Given the description of an element on the screen output the (x, y) to click on. 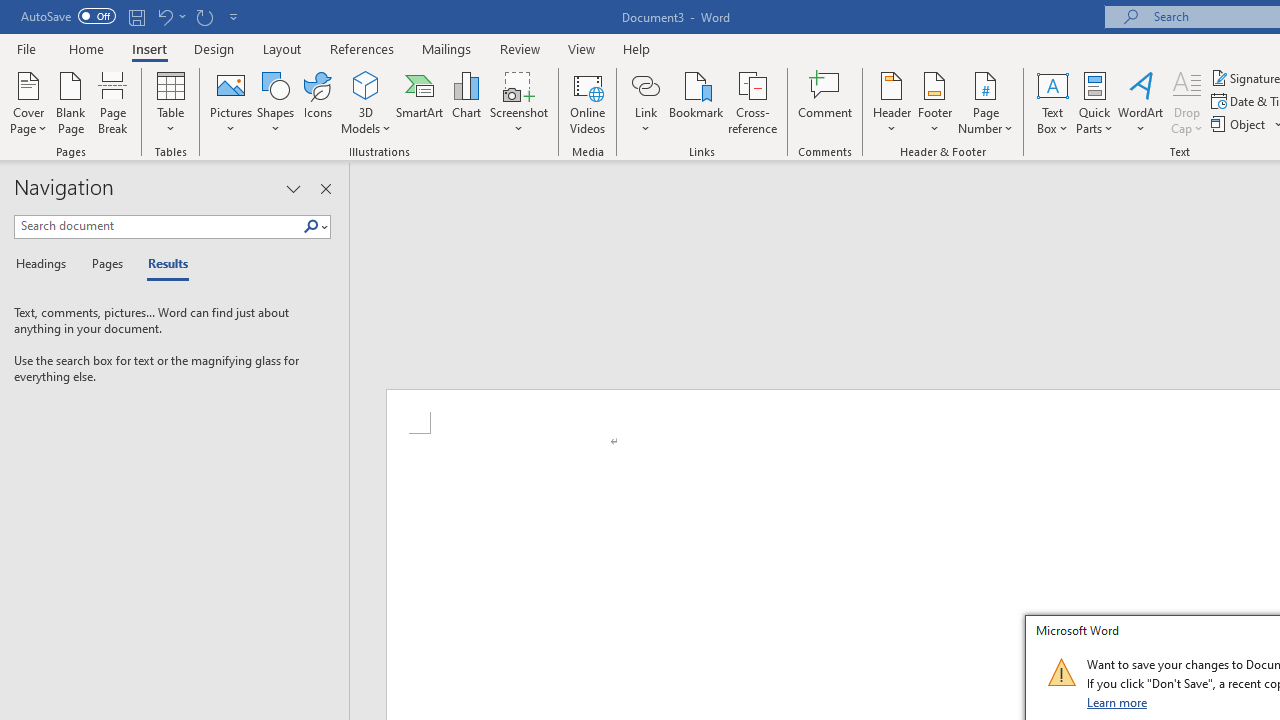
Pictures (230, 102)
Bookmark... (695, 102)
Undo New Page (164, 15)
Page Break (113, 102)
Icons (317, 102)
Shapes (275, 102)
